Given the description of an element on the screen output the (x, y) to click on. 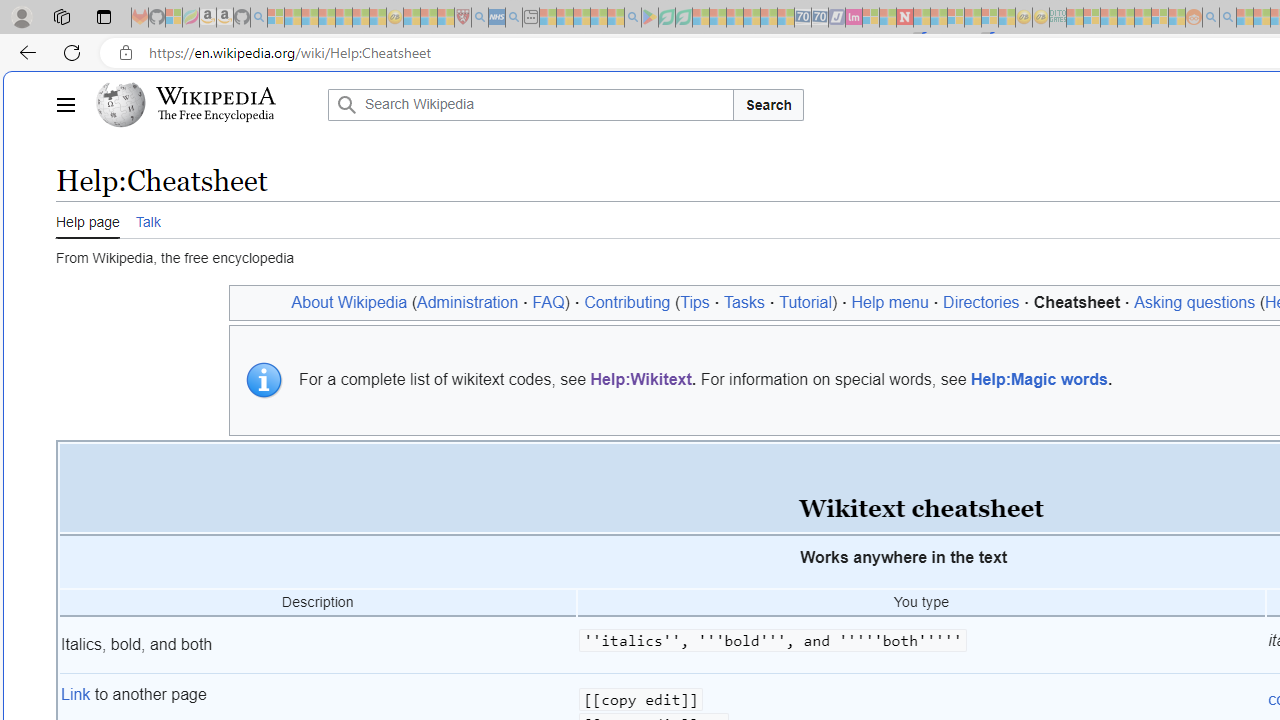
Italics, bold, and both (318, 645)
Expert Portfolios - Sleeping (1125, 17)
FAQ) (550, 302)
